Given the description of an element on the screen output the (x, y) to click on. 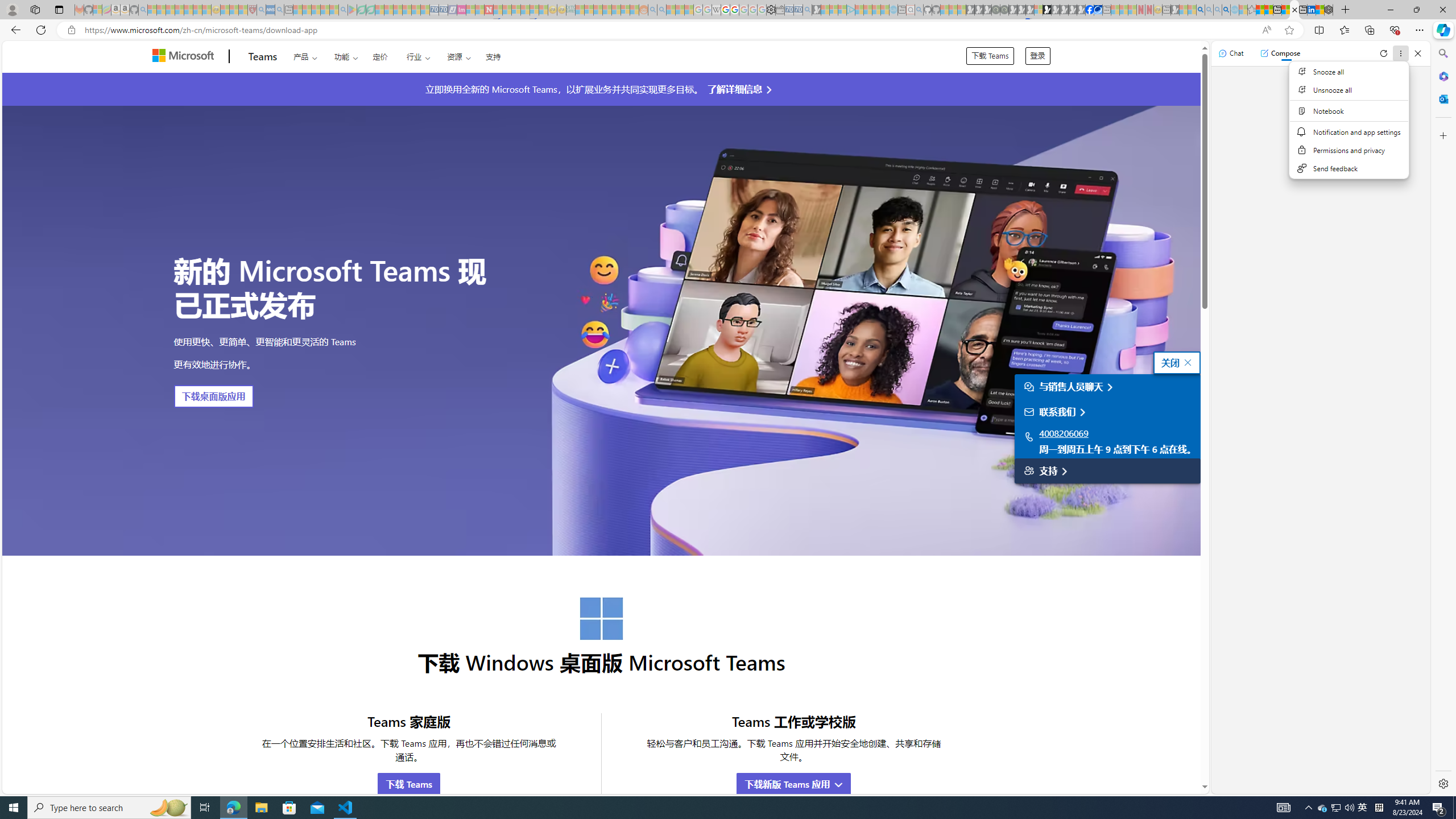
Cheap Hotels - Save70.com - Sleeping (442, 9)
Chat (1230, 52)
Bing AI - Search (1200, 9)
